Given the description of an element on the screen output the (x, y) to click on. 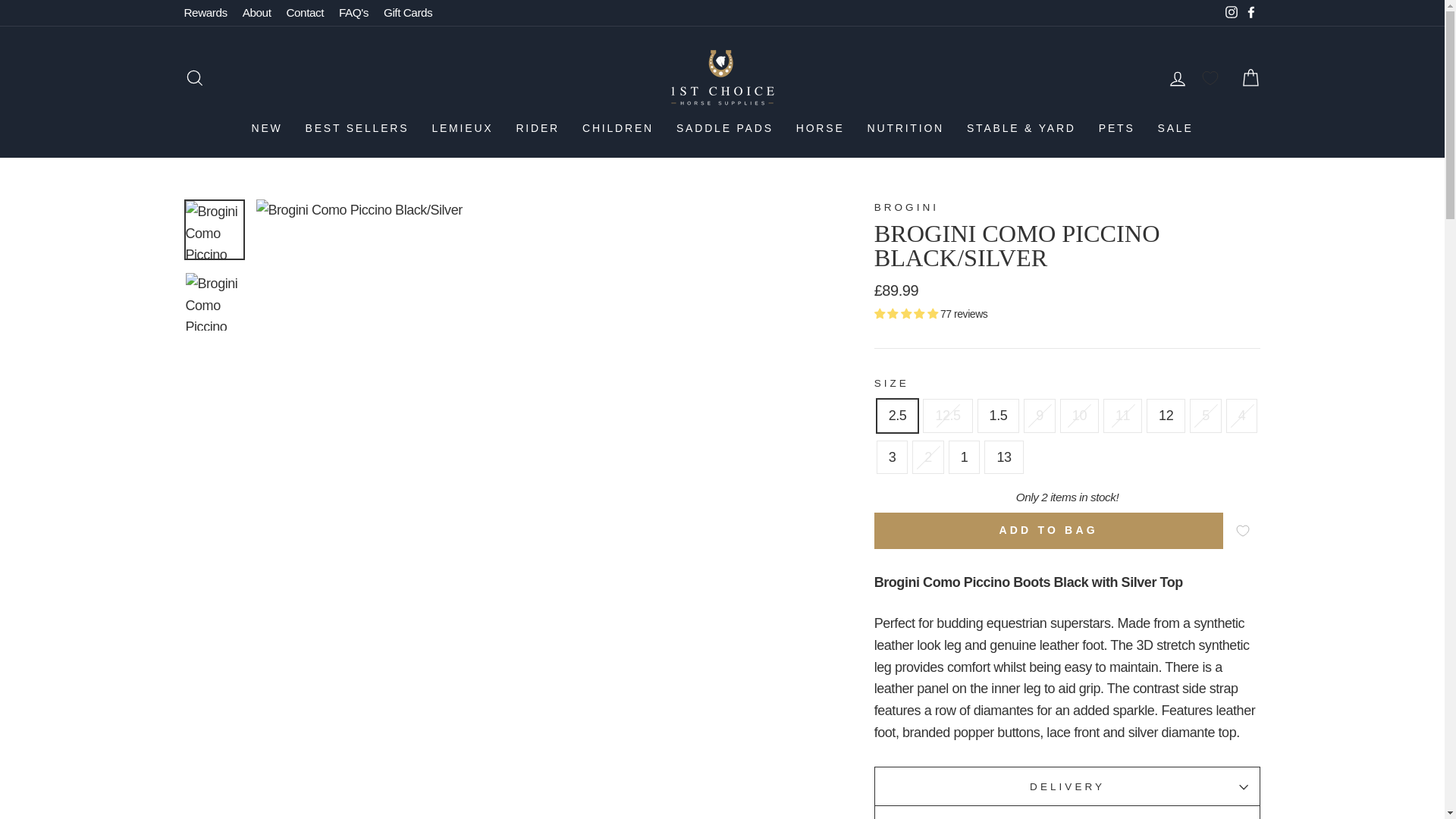
First Choice Horse Supplies on Facebook (1250, 12)
Add to Wishlist (1244, 529)
View Wishlist (1211, 77)
First Choice Horse Supplies on Instagram (1230, 12)
